Given the description of an element on the screen output the (x, y) to click on. 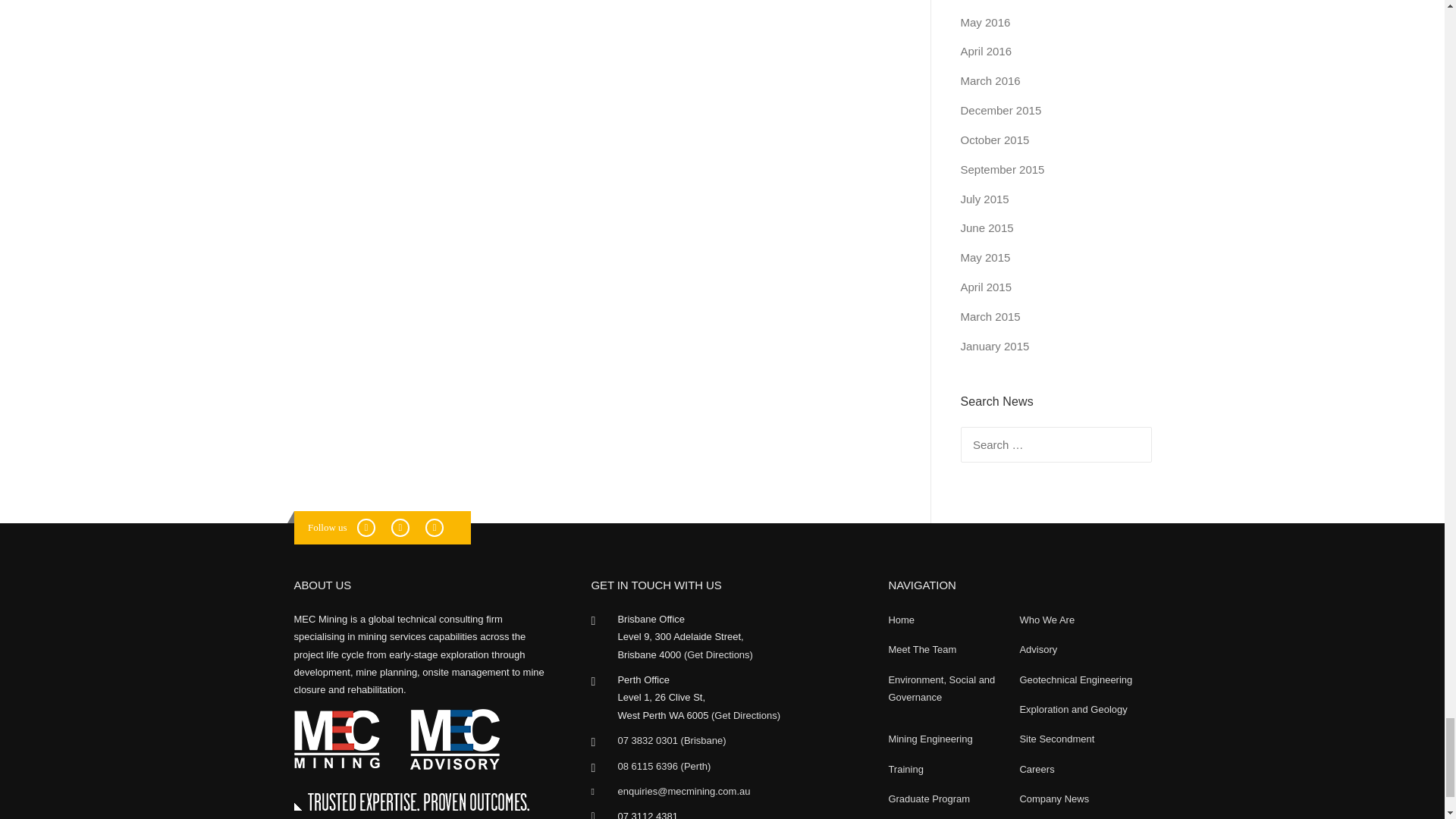
Youtube (439, 527)
Facebook (370, 527)
Linkedin (405, 527)
